Given the description of an element on the screen output the (x, y) to click on. 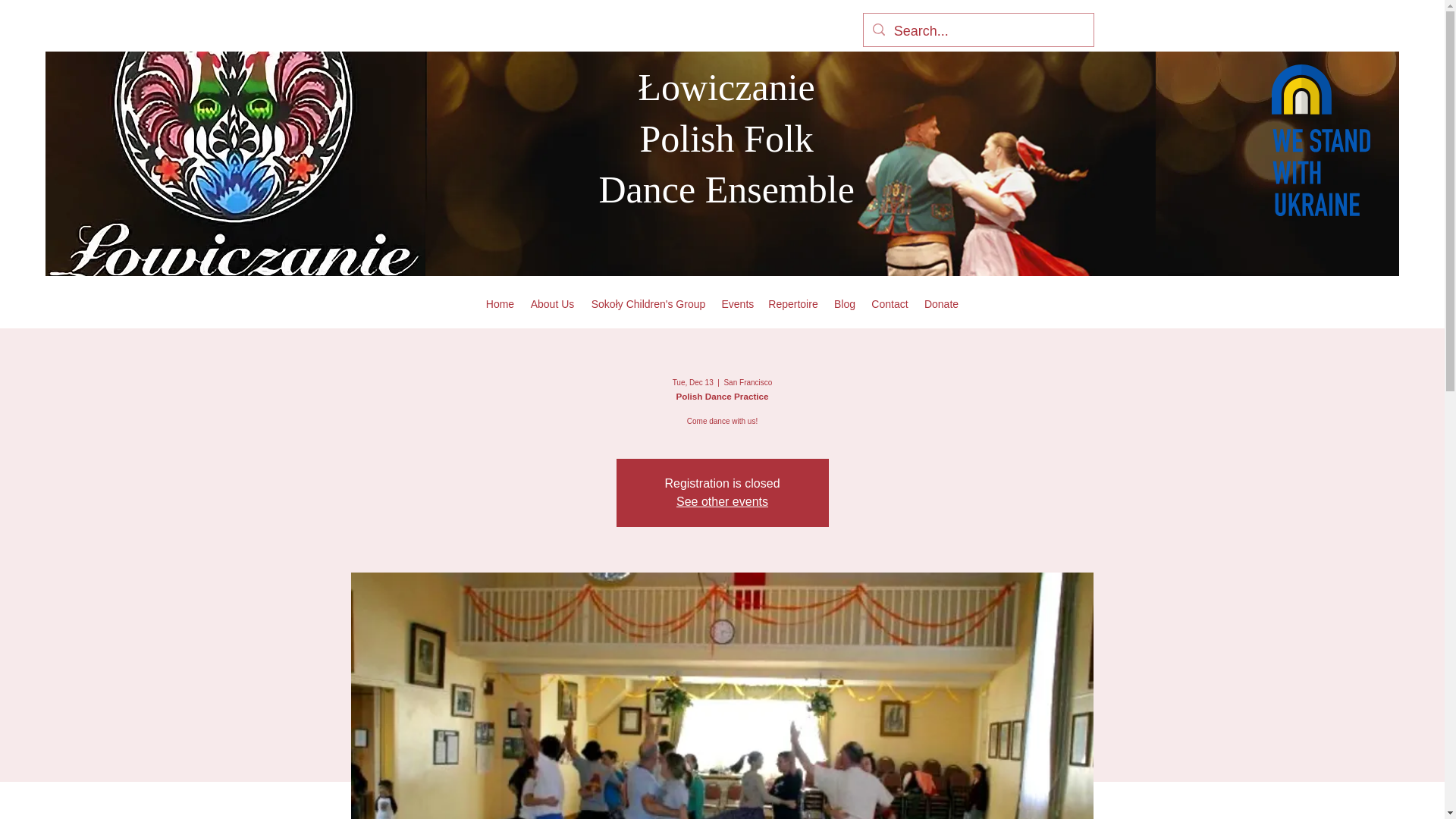
About Us (551, 303)
Home (499, 303)
Contact (889, 303)
Repertoire (792, 303)
Donate (940, 303)
See other events (722, 501)
Blog (844, 303)
Events (736, 303)
